Given the description of an element on the screen output the (x, y) to click on. 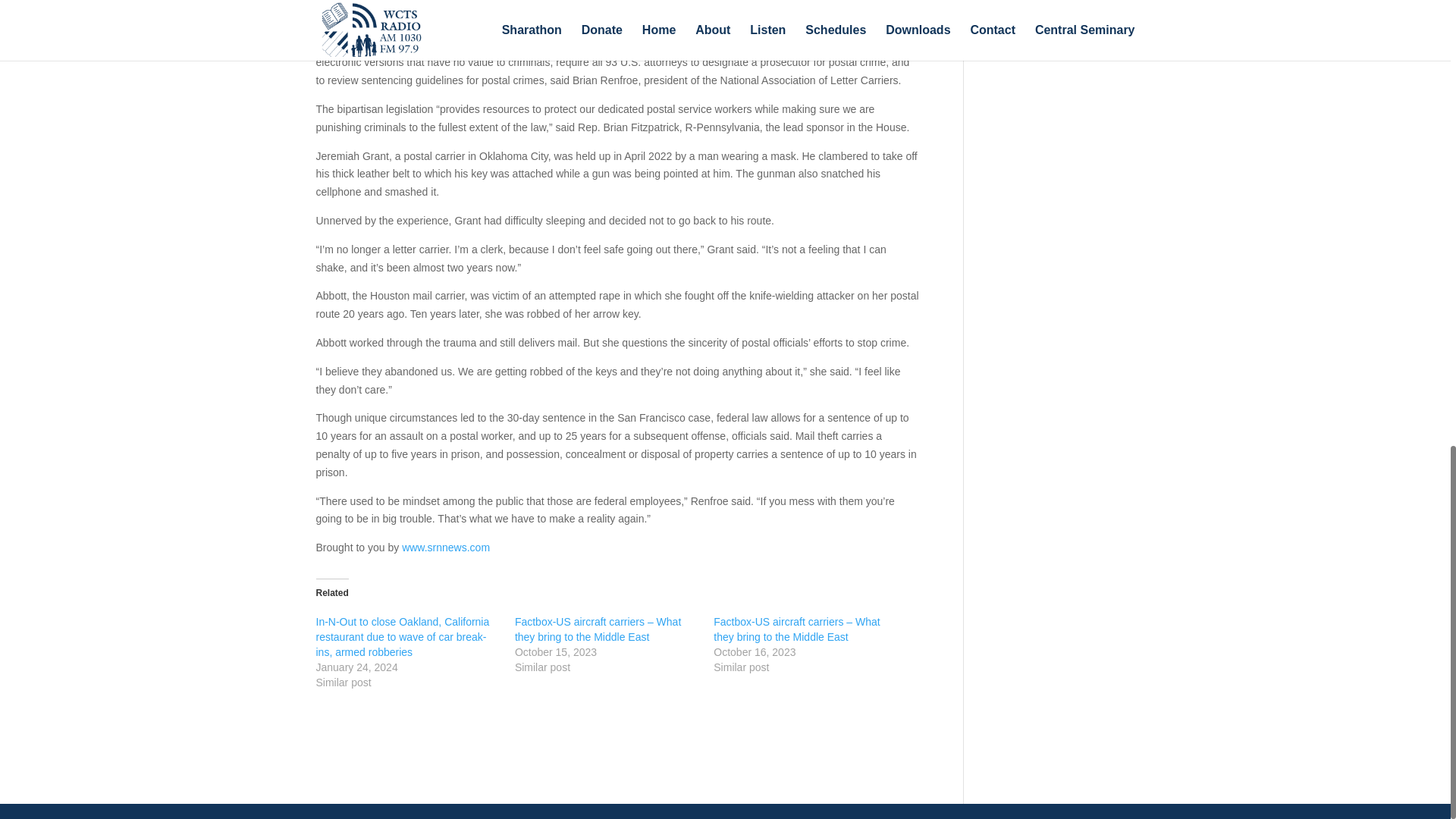
www.srnnews.com (445, 547)
